Given the description of an element on the screen output the (x, y) to click on. 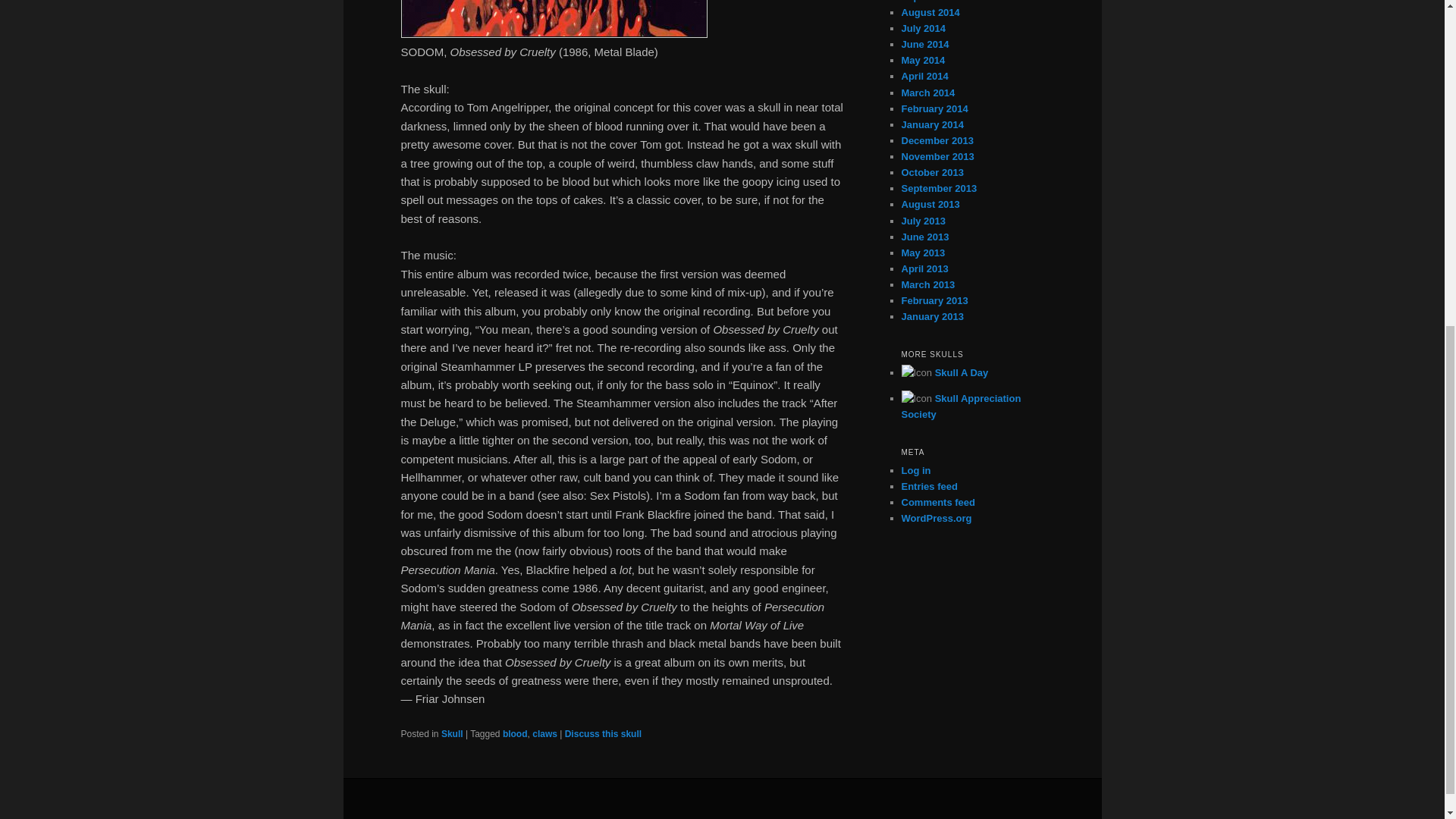
December 2013 (936, 140)
June 2014 (925, 43)
March 2014 (928, 92)
Skull Appreciation Society (960, 406)
May 2014 (922, 60)
September 2014 (938, 1)
August 2014 (930, 12)
Skull A Day (961, 372)
Discuss this skull (603, 733)
November 2013 (937, 156)
